Given the description of an element on the screen output the (x, y) to click on. 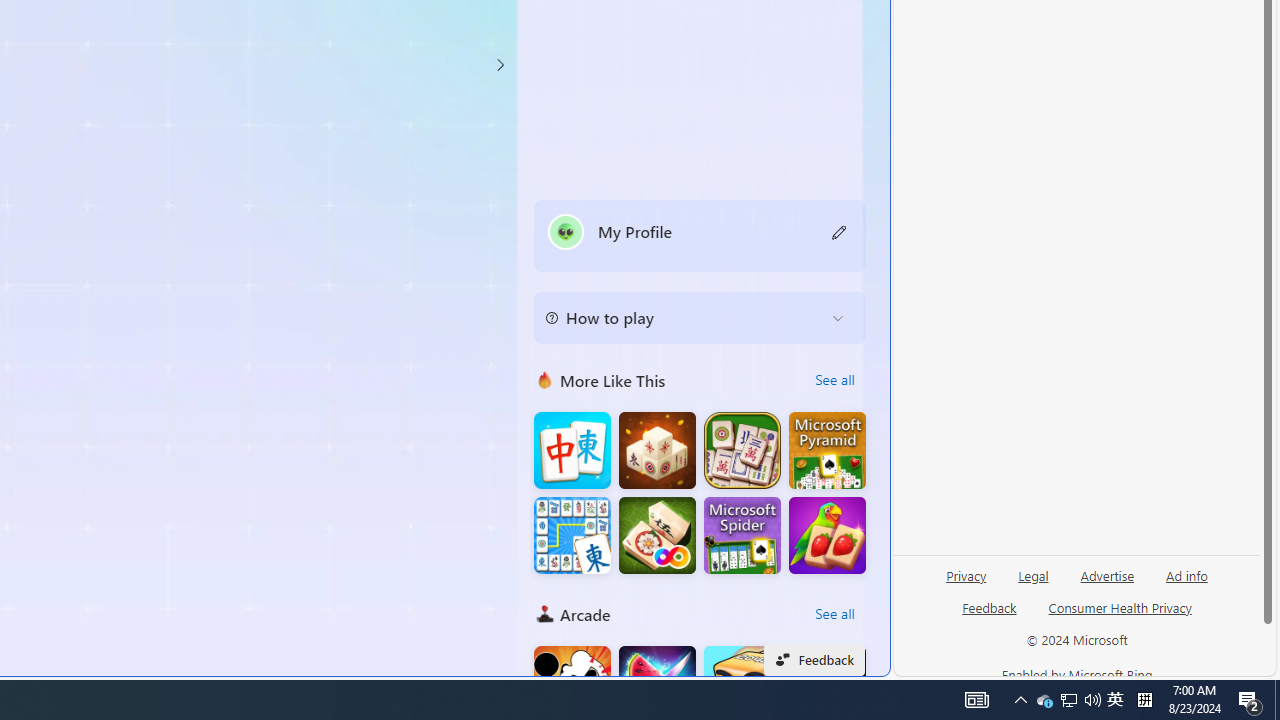
Mahjong FRVR (657, 535)
Feedback (989, 607)
Class: control (499, 64)
""'s avatar (565, 231)
Ad info (1186, 583)
Legal (1033, 574)
Mahjong Big (571, 450)
See all (834, 614)
Feedback (988, 615)
Microsoft Pyramid Solitaire (827, 450)
How to play (683, 317)
Daily Mahjong (742, 450)
Solitaire Mahjong Juicy (827, 535)
Legal (1033, 583)
Advertise (1106, 583)
